Given the description of an element on the screen output the (x, y) to click on. 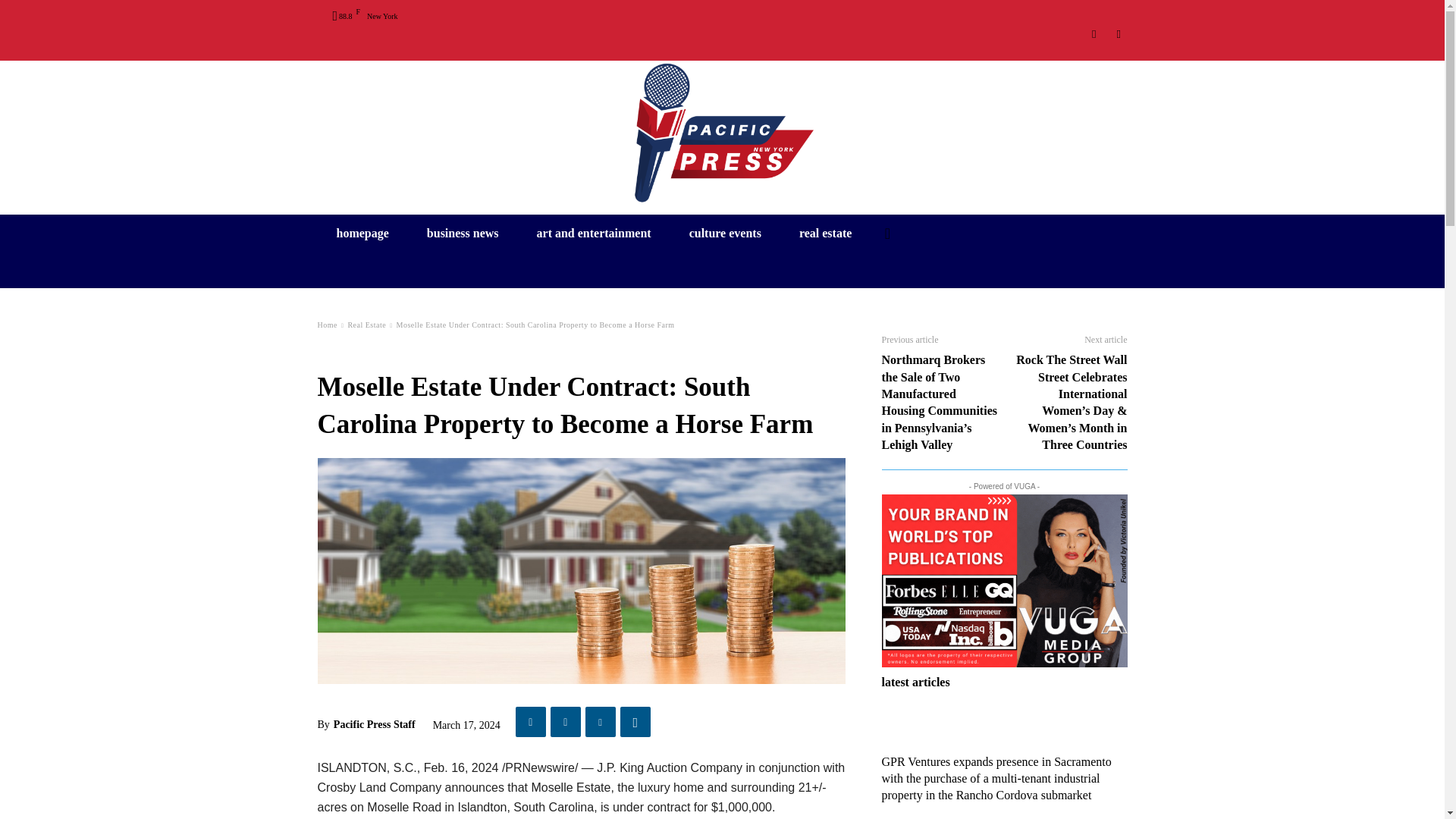
real estate (825, 232)
business news (462, 232)
Home (326, 325)
Pacific Press New York (721, 131)
Pacific Press New York (721, 131)
Instagram (1094, 34)
homepage (362, 232)
culture events (724, 232)
art and entertainment (593, 232)
Pacific Press Staff (373, 724)
